Given the description of an element on the screen output the (x, y) to click on. 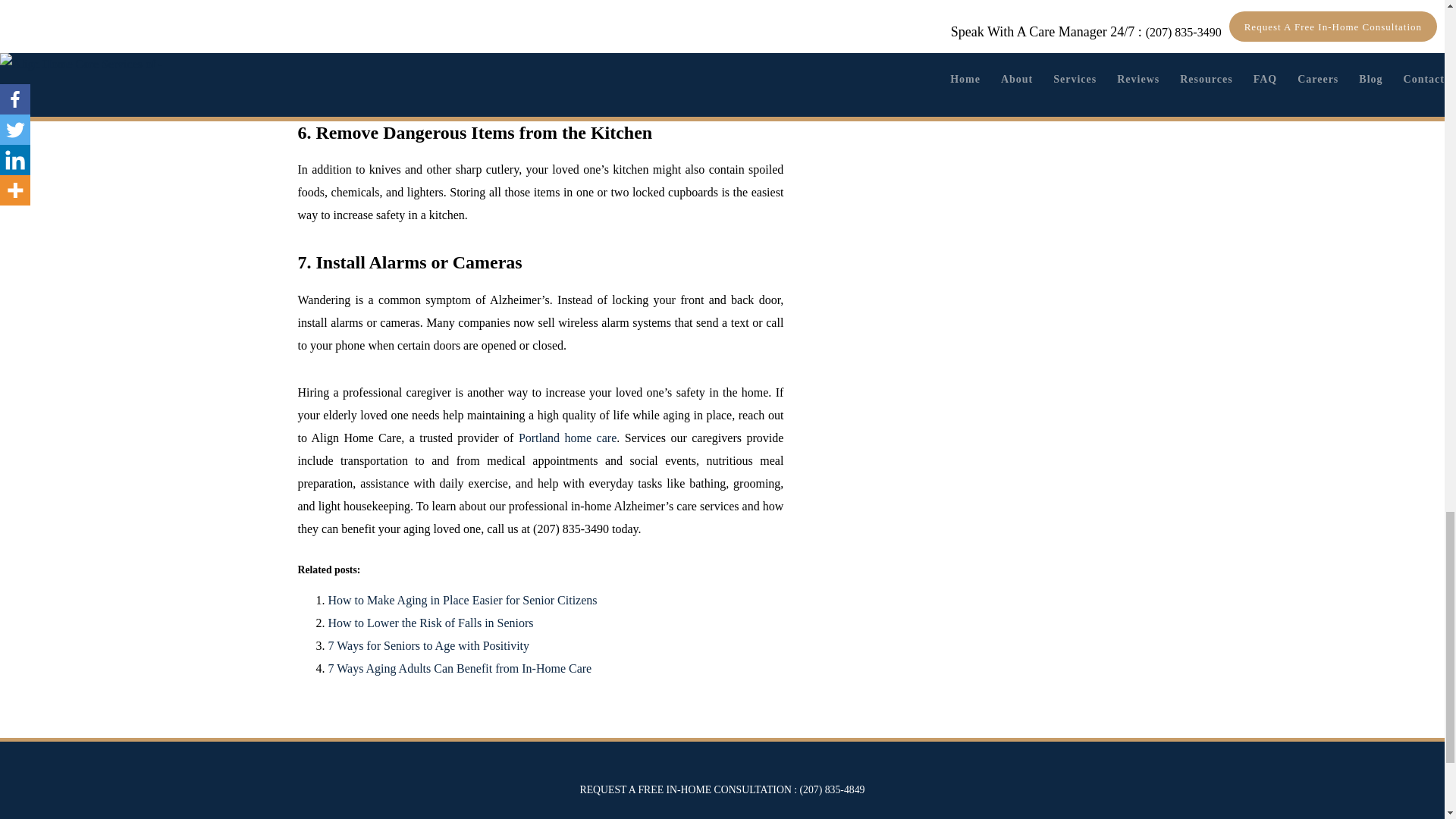
How to Lower the Risk of Falls in Seniors (429, 622)
7 Ways for Seniors to Age with Positivity (428, 645)
7 Ways for Seniors to Age with Positivity (428, 645)
How to Make Aging in Place Easier for Senior Citizens (461, 599)
7 Ways Aging Adults Can Benefit from In-Home Care (459, 667)
7 Ways Aging Adults Can Benefit from In-Home Care (459, 667)
How to Make Aging in Place Easier for Senior Citizens (461, 599)
Portland home care (566, 437)
How to Lower the Risk of Falls in Seniors (429, 622)
